Given the description of an element on the screen output the (x, y) to click on. 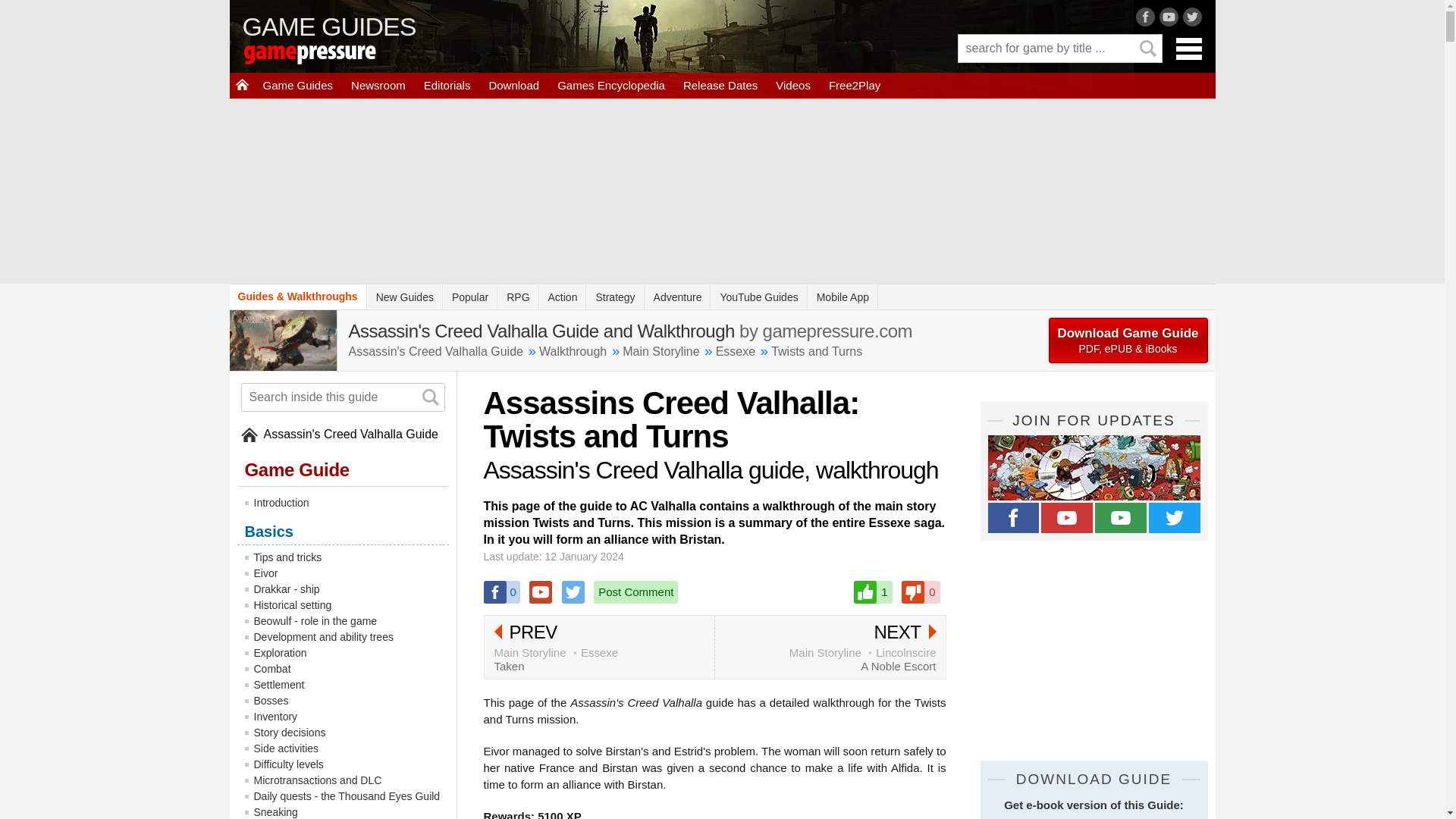
Videos (793, 85)
gamepressure.com (331, 55)
Twitter (573, 591)
Editorials (447, 85)
Game Guides on Youtube (1120, 517)
Post Comment (636, 591)
Facebook (501, 591)
Game Guides (297, 85)
Essexe (735, 350)
Strategy (614, 296)
Bad (920, 591)
Games Encyclopedia (611, 85)
YouTube Guides (758, 296)
Gamepressure.com on Facebook (1013, 517)
Youtube (540, 591)
